Given the description of an element on the screen output the (x, y) to click on. 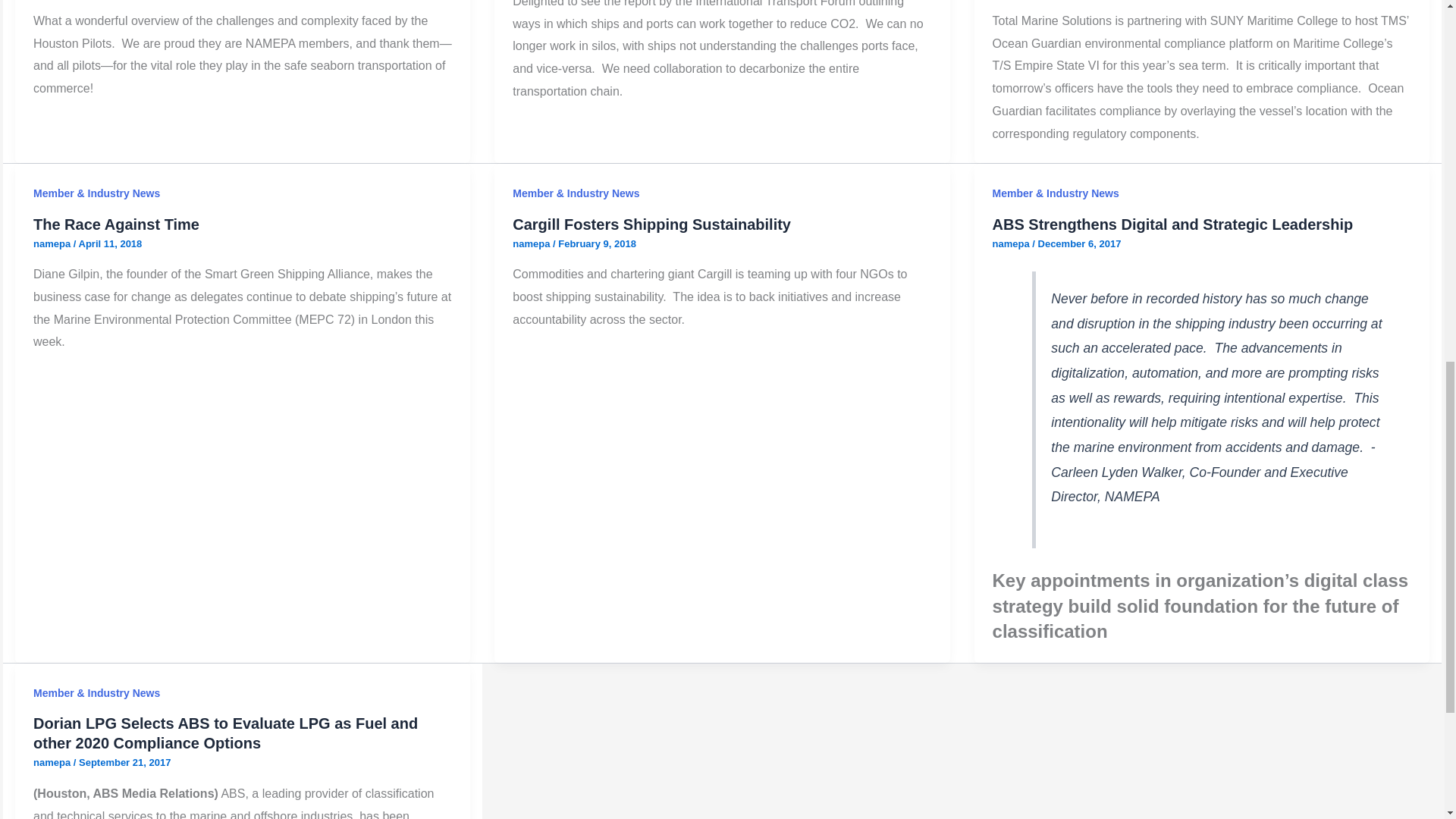
View all posts by namepa (532, 243)
View all posts by namepa (53, 243)
View all posts by namepa (53, 762)
View all posts by namepa (1012, 243)
